Given the description of an element on the screen output the (x, y) to click on. 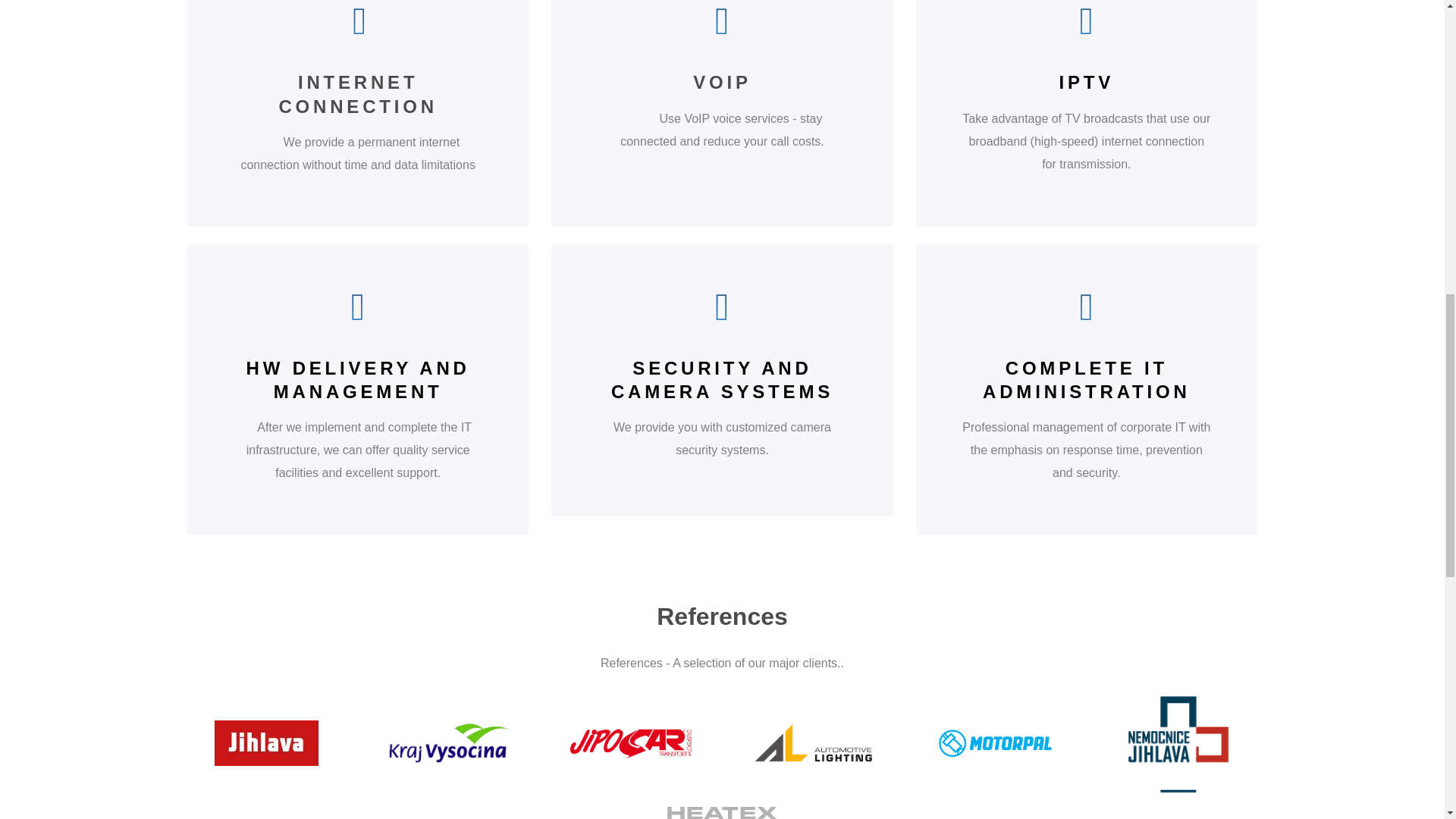
VOIP (722, 82)
INTERNET CONNECTION (357, 94)
